Given the description of an element on the screen output the (x, y) to click on. 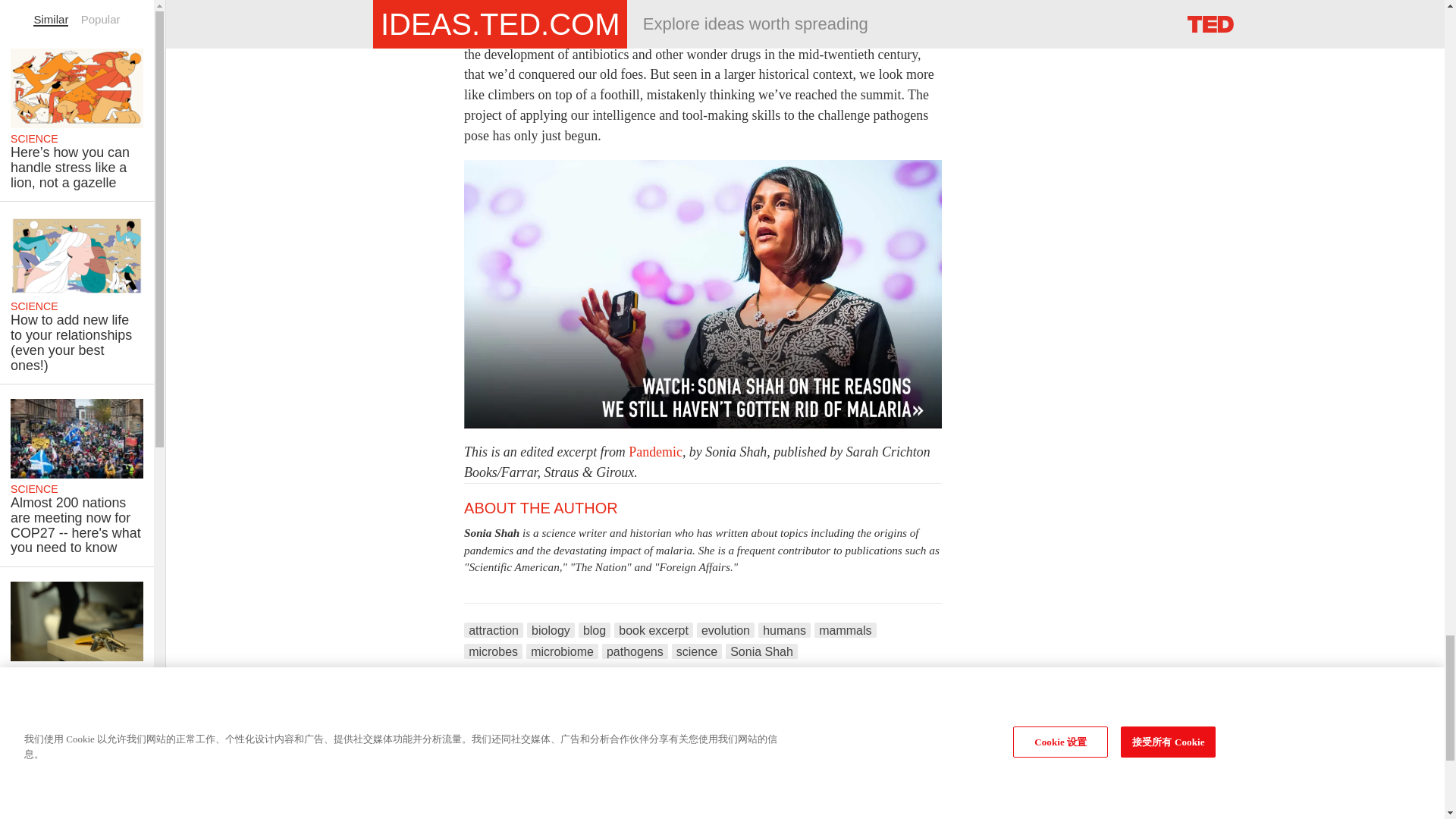
Sonia Shah (491, 532)
biology (551, 630)
attraction (493, 630)
blog (594, 630)
book excerpt (653, 630)
Pandemic (655, 451)
evolution (725, 630)
